Given the description of an element on the screen output the (x, y) to click on. 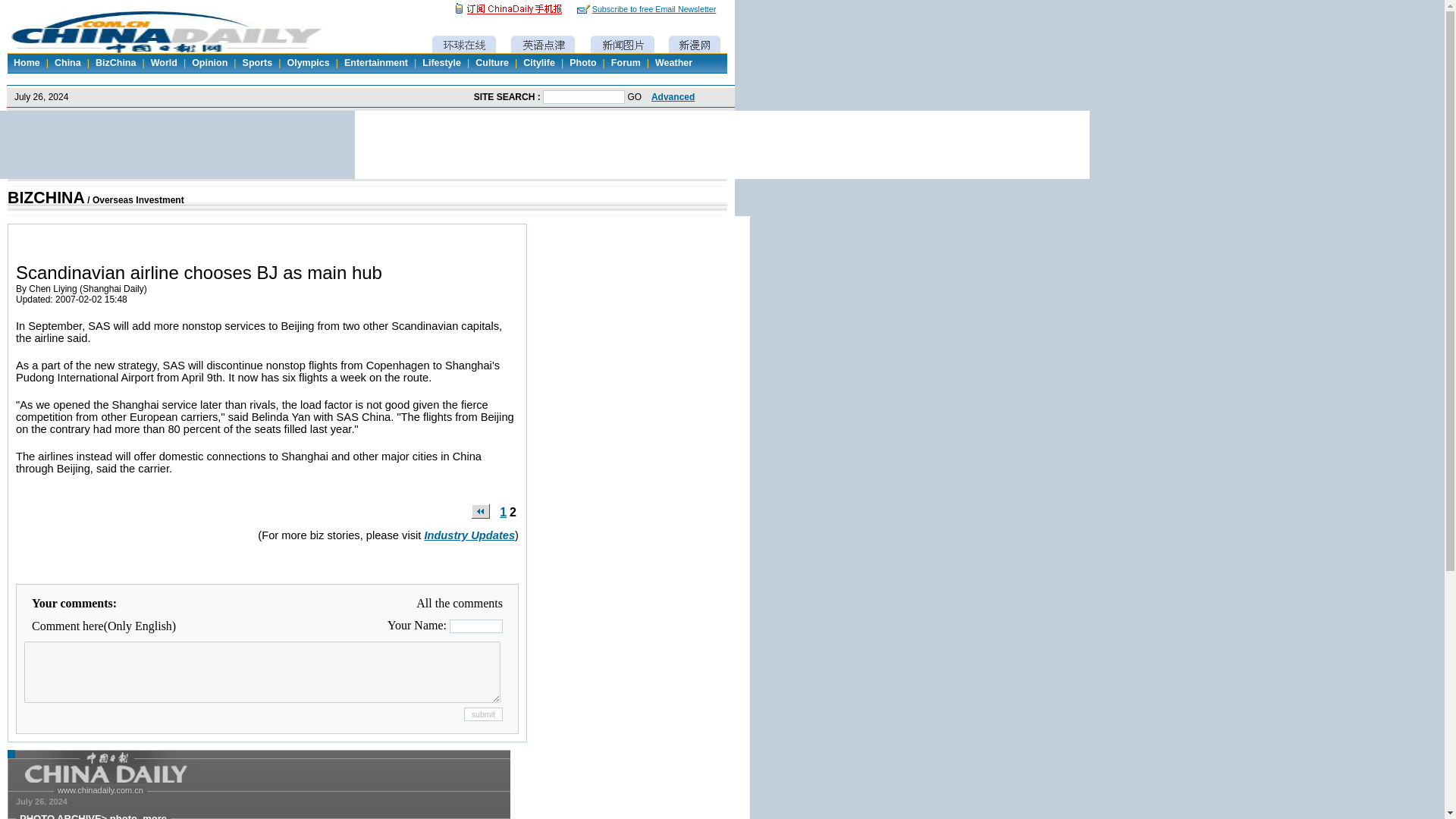
BIZCHINA (45, 198)
World (163, 62)
Culture (491, 62)
Lifestyle (441, 62)
Home (26, 62)
1 (502, 512)
Photo (582, 62)
Industry Updates (469, 535)
Weather (673, 62)
Olympics (307, 62)
China (67, 62)
Forum (625, 62)
 submit  (483, 714)
All the comments (459, 603)
BizChina (114, 62)
